Given the description of an element on the screen output the (x, y) to click on. 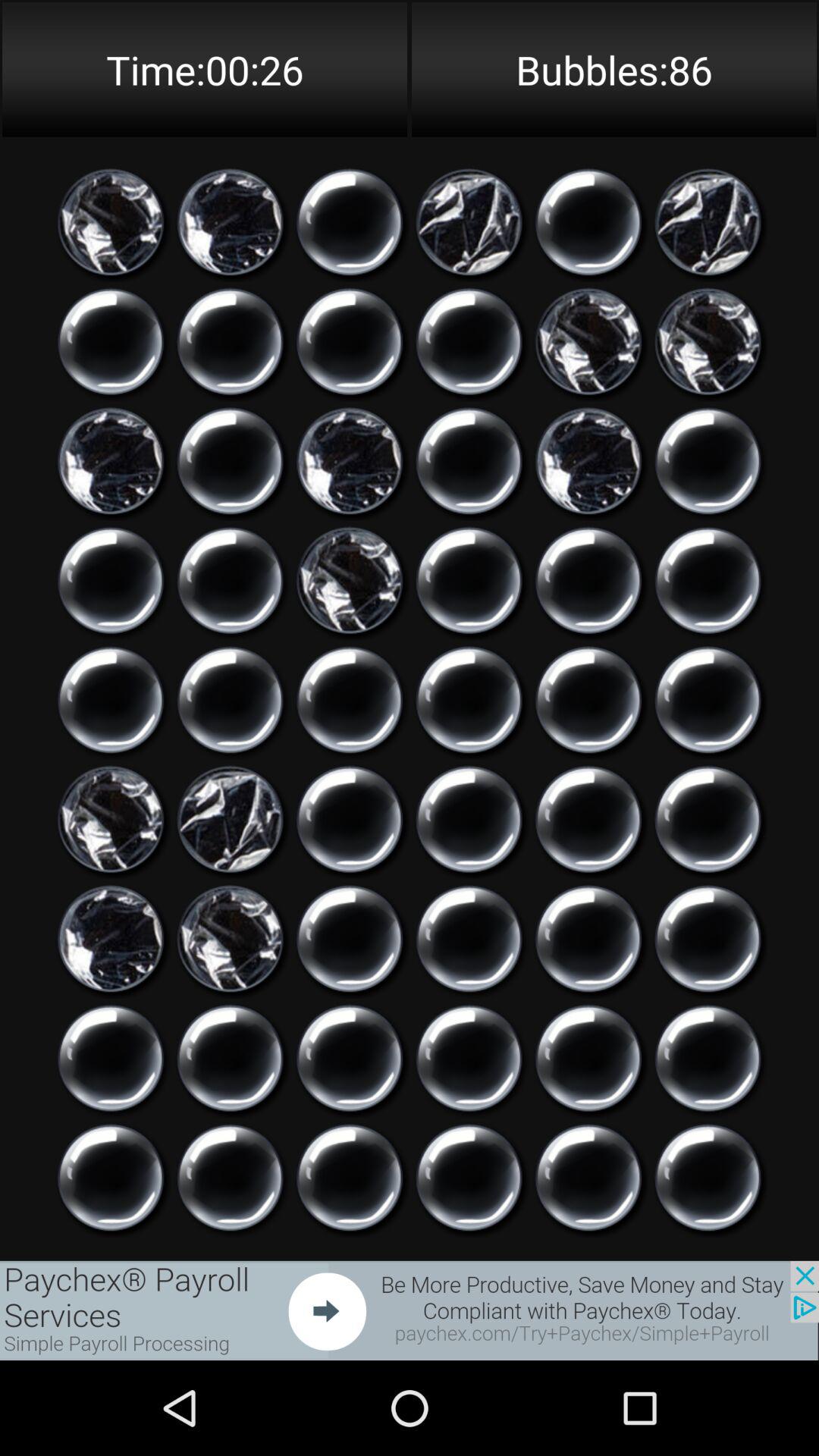
option (588, 938)
